Given the description of an element on the screen output the (x, y) to click on. 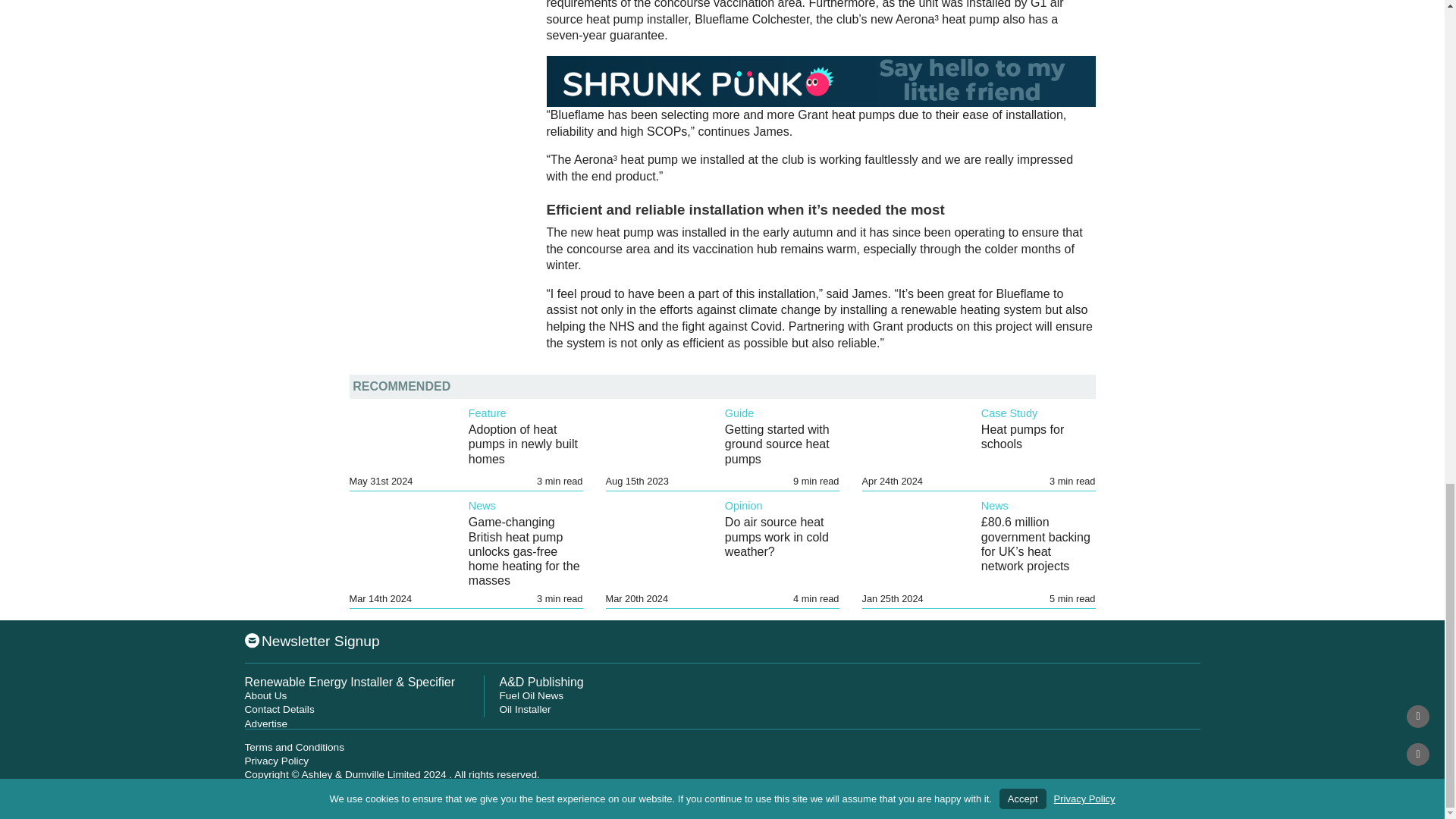
Getting started with ground source heat pumps (777, 444)
Getting started with ground source heat pumps (777, 444)
Do air source heat pumps work in cold weather?   (776, 536)
Adoption of heat pumps in newly built homes (523, 444)
Heat pumps for schools  (1022, 436)
Adoption of heat pumps in newly built homes (523, 444)
